Given the description of an element on the screen output the (x, y) to click on. 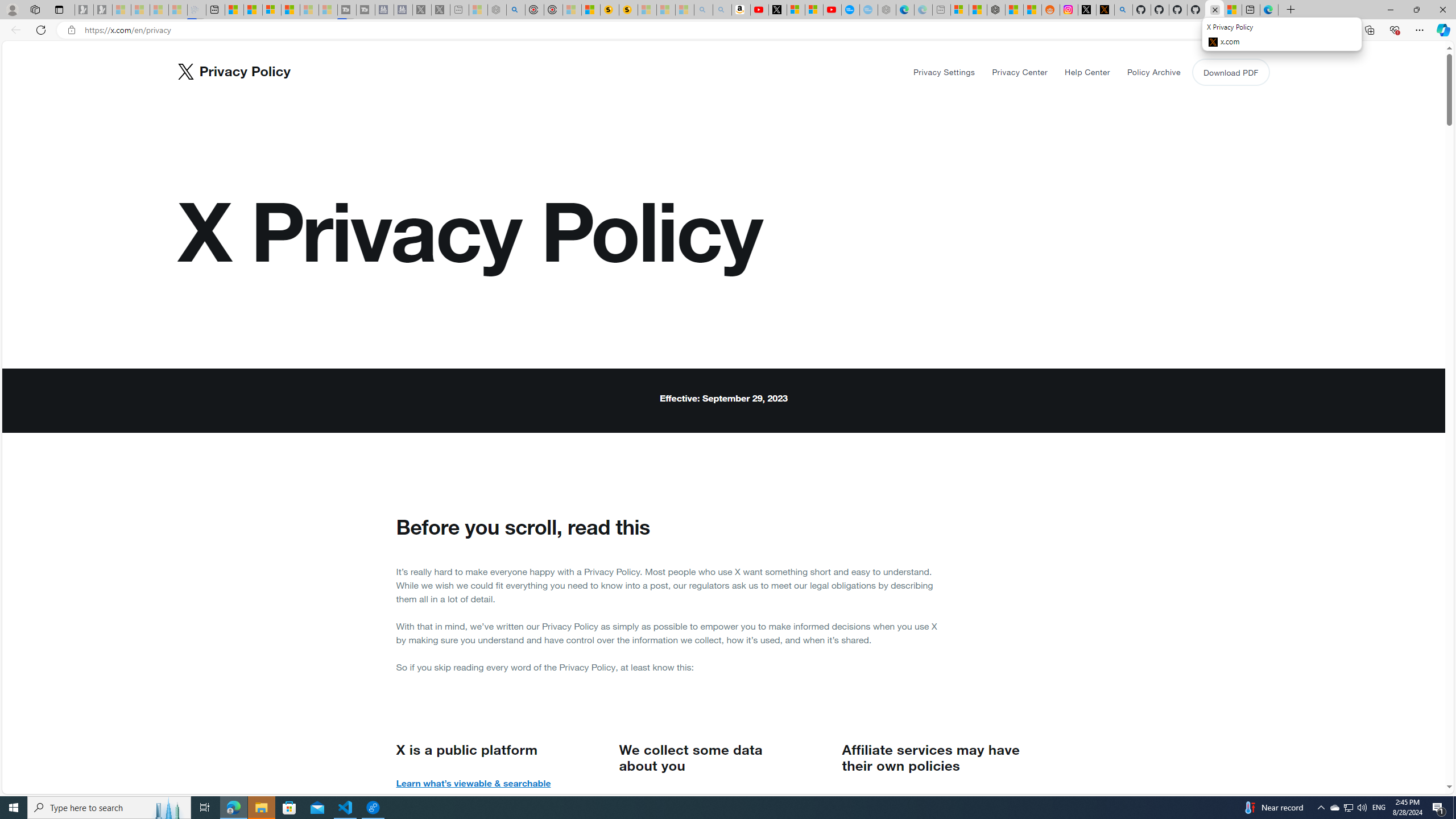
Nordace - Duffels (996, 9)
Nordace - Nordace has arrived Hong Kong - Sleeping (887, 9)
The most popular Google 'how to' searches - Sleeping (868, 9)
Privacy Center (1019, 71)
Wildlife - MSN - Sleeping (478, 9)
Shopping in Microsoft Edge (1245, 29)
Enter Immersive Reader (F9) (1291, 29)
